Given the description of an element on the screen output the (x, y) to click on. 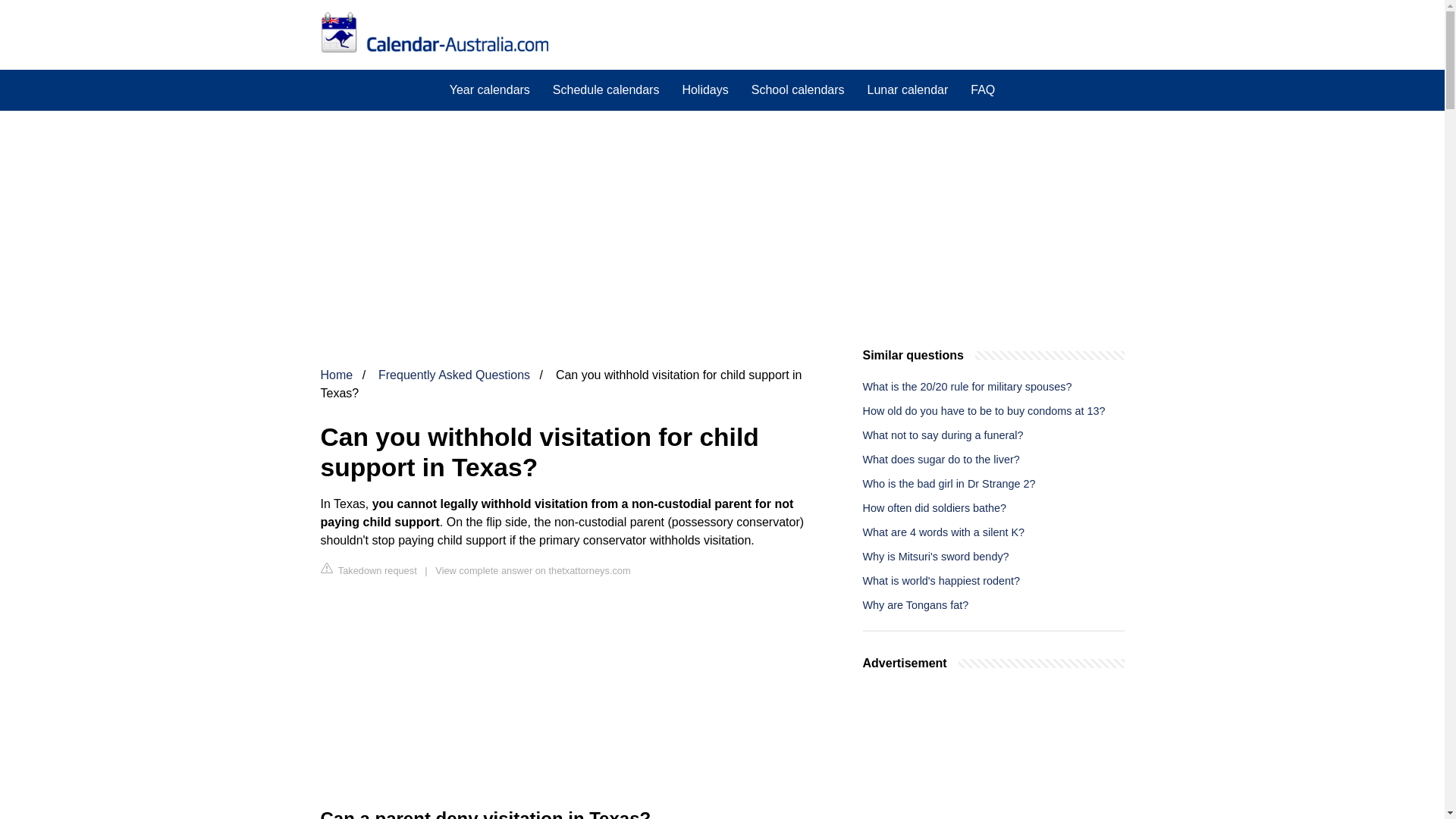
Takedown request (368, 569)
Holidays (704, 89)
Lunar calendar (907, 89)
View complete answer on thetxattorneys.com (532, 570)
Home (336, 374)
Schedule calendars (606, 89)
FAQ (982, 89)
Year calendars (489, 89)
Frequently Asked Questions (453, 374)
School calendars (797, 89)
